Given the description of an element on the screen output the (x, y) to click on. 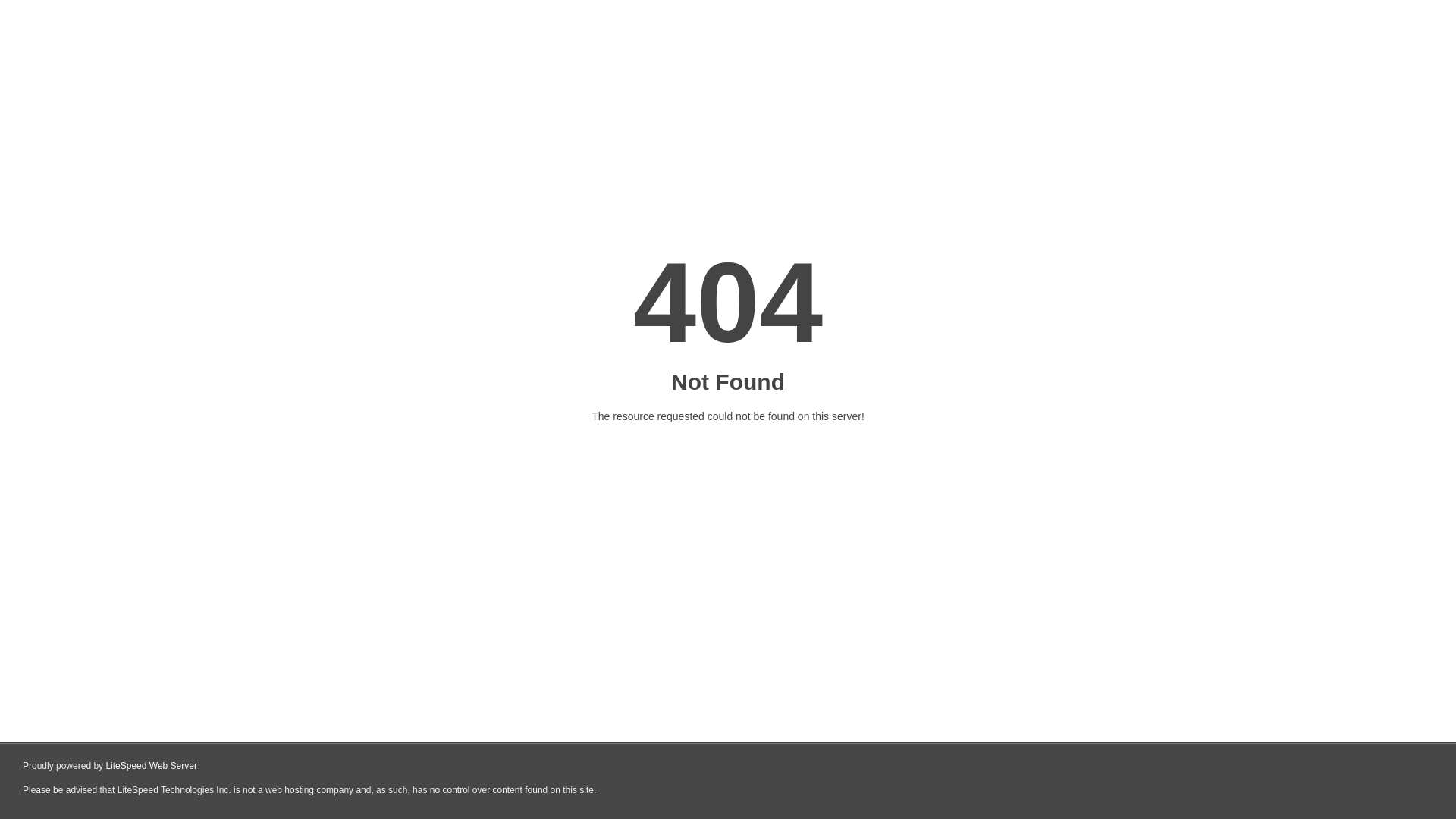
LiteSpeed Web Server Element type: text (151, 765)
